Given the description of an element on the screen output the (x, y) to click on. 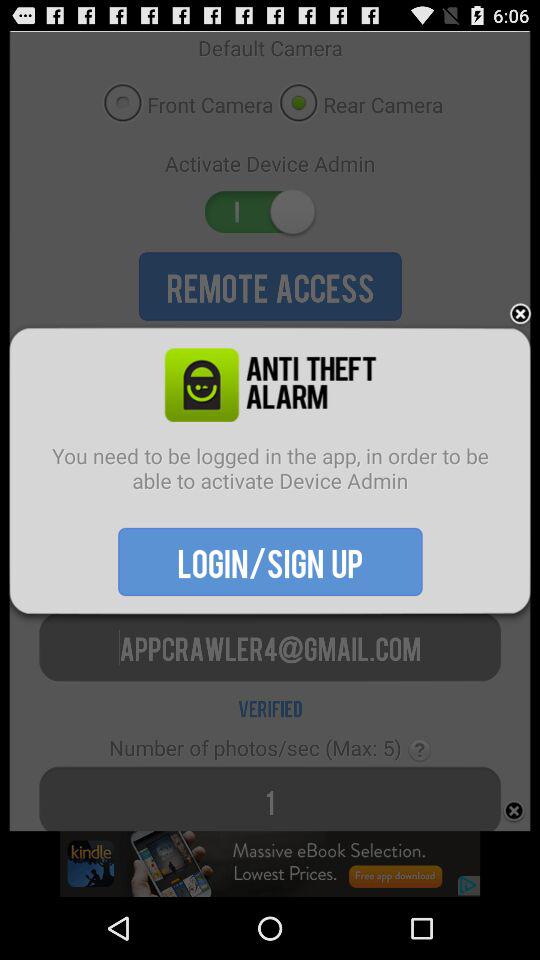
exit pop-up option (520, 314)
